Given the description of an element on the screen output the (x, y) to click on. 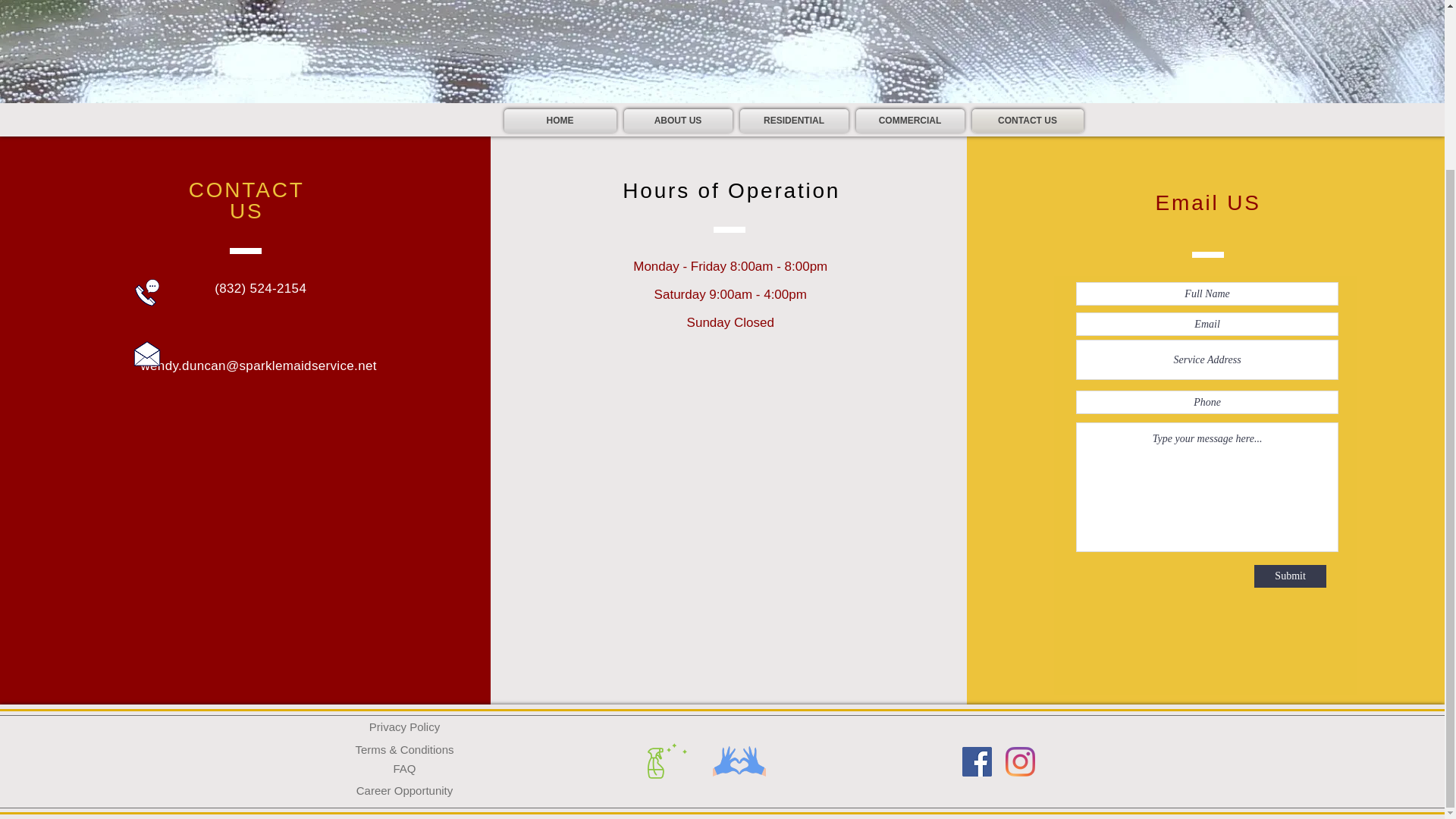
FAQ (404, 767)
Career Opportunity (404, 789)
Privacy Policy (404, 726)
Submit (1289, 576)
